Given the description of an element on the screen output the (x, y) to click on. 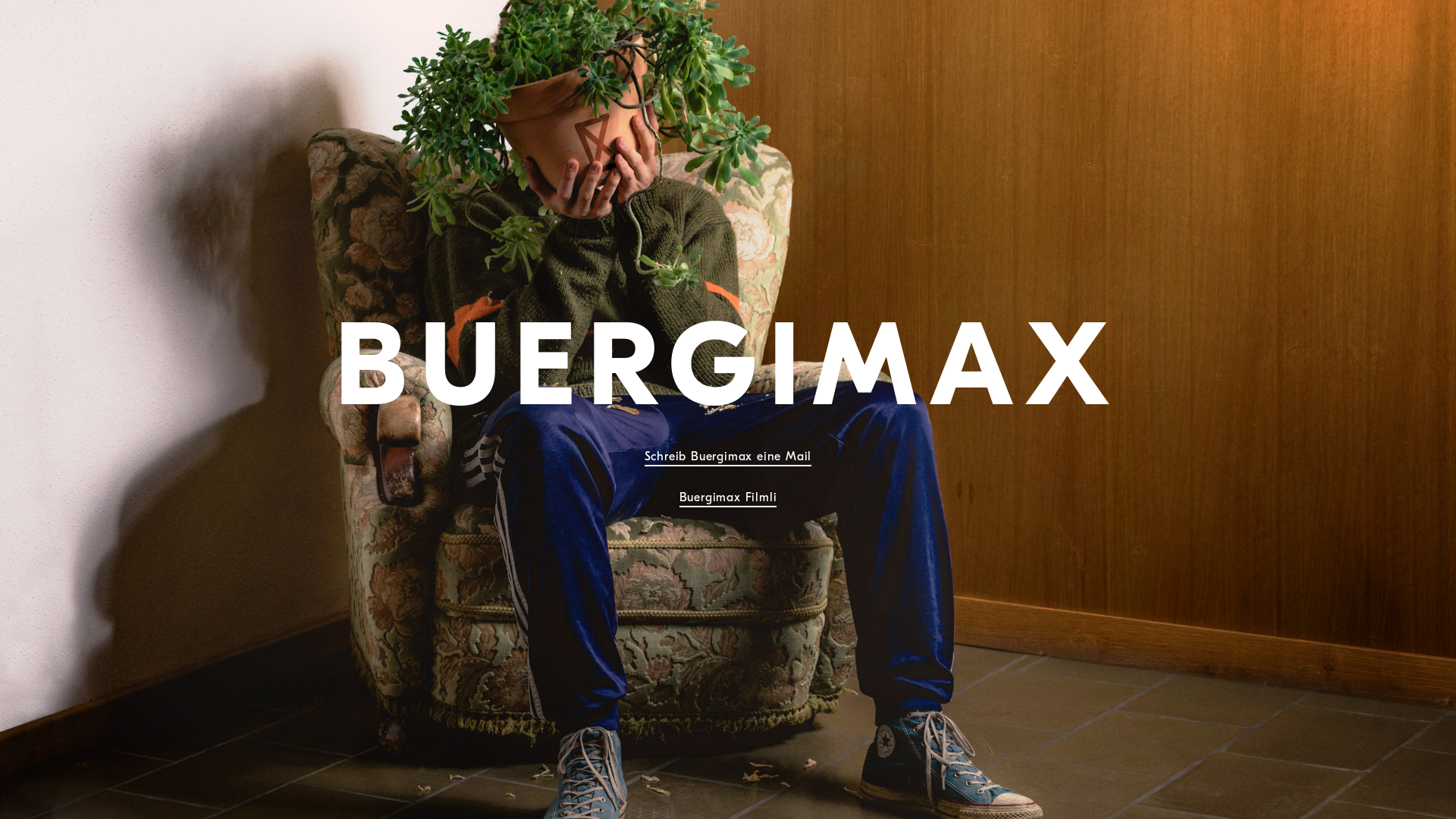
Schreib Buergimax eine Mail Element type: text (728, 457)
Buergimax Filmli Element type: text (728, 498)
